Given the description of an element on the screen output the (x, y) to click on. 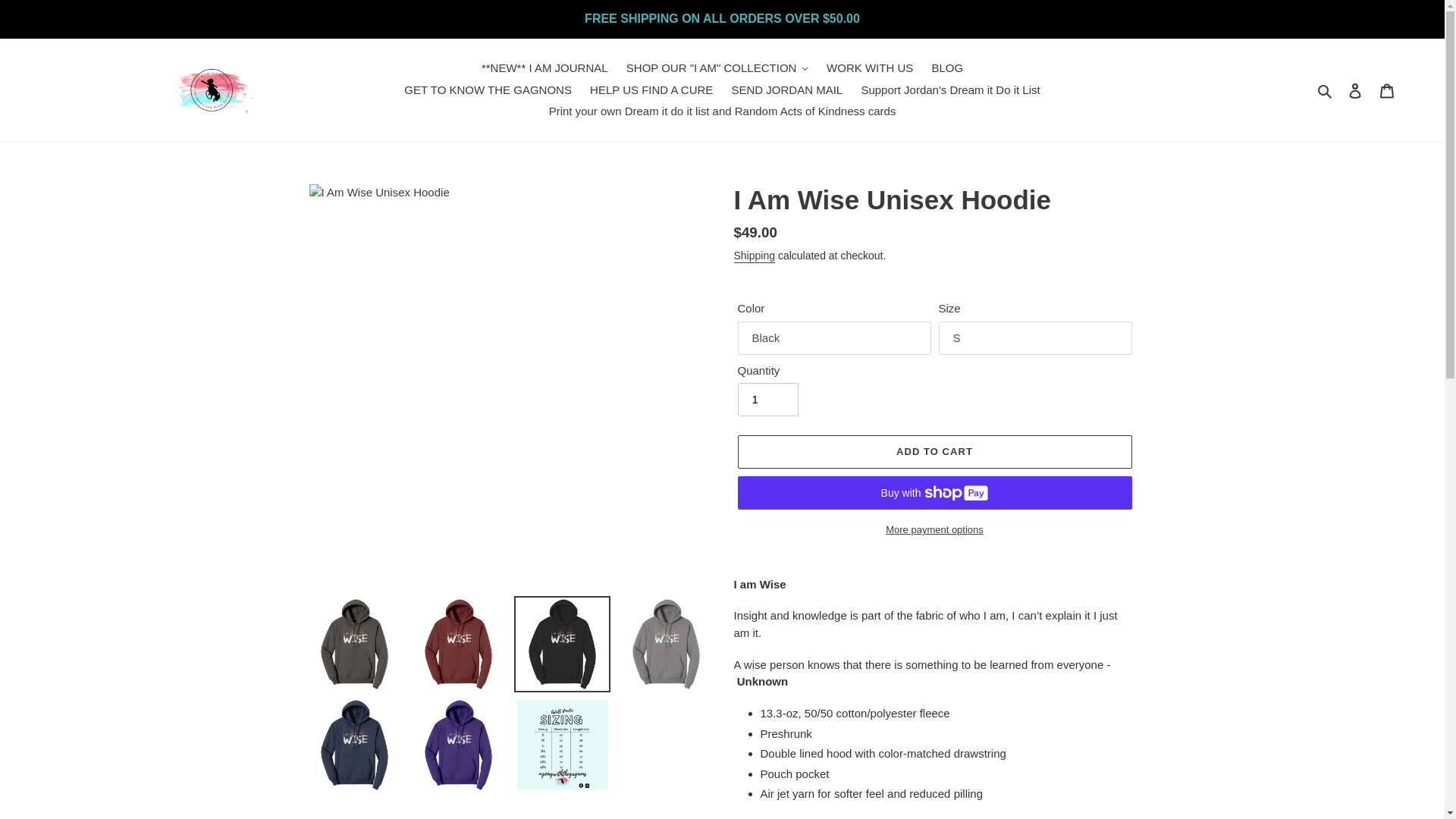
WORK WITH US (869, 68)
GET TO KNOW THE GAGNONS (487, 89)
1 (766, 399)
SHOP OUR "I AM" COLLECTION (716, 68)
BLOG (947, 68)
